Given the description of an element on the screen output the (x, y) to click on. 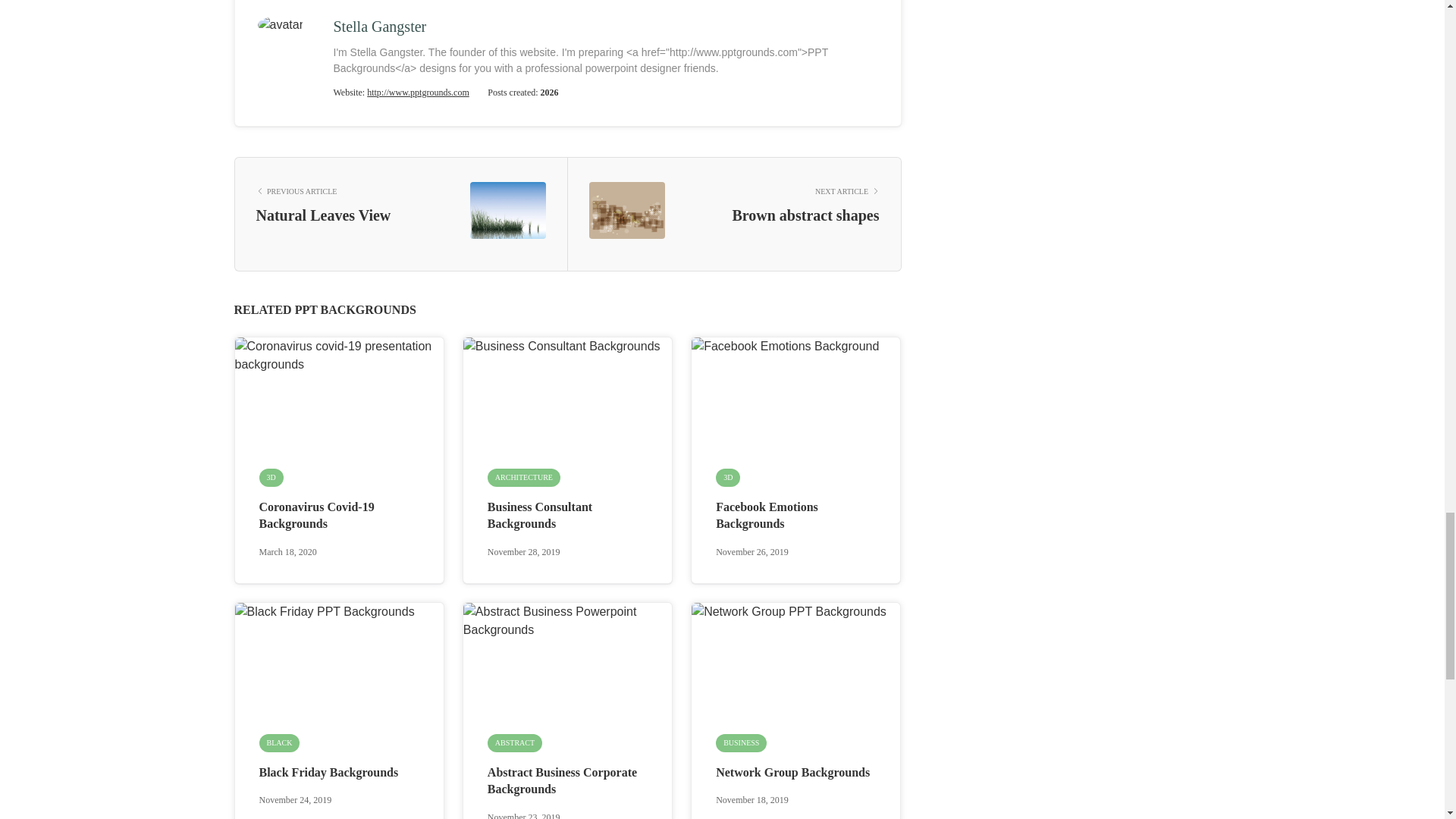
Posts by Stella Gangster (379, 26)
